Given the description of an element on the screen output the (x, y) to click on. 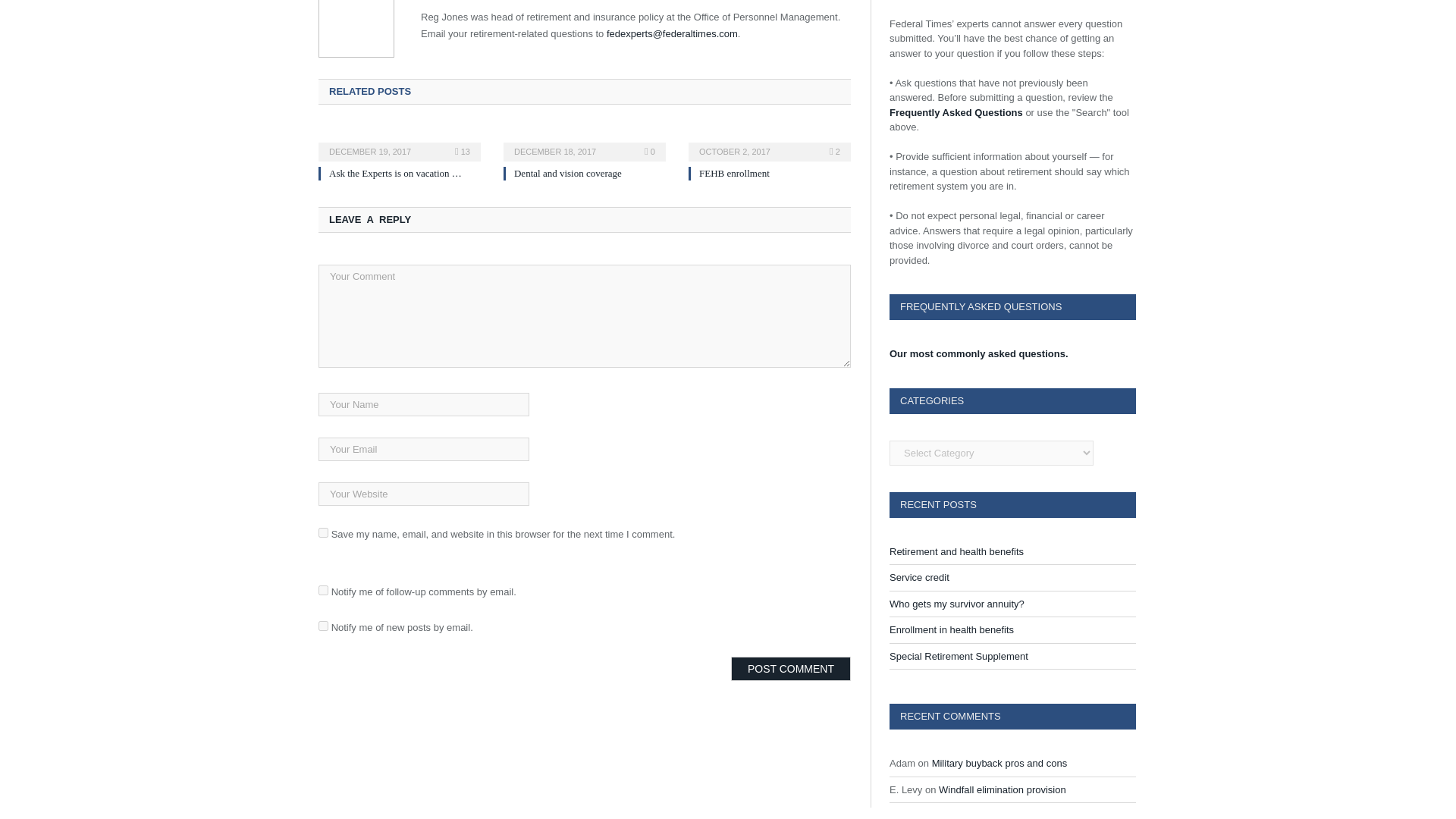
subscribe (323, 590)
subscribe (323, 625)
yes (323, 532)
Post Comment (790, 668)
